Given the description of an element on the screen output the (x, y) to click on. 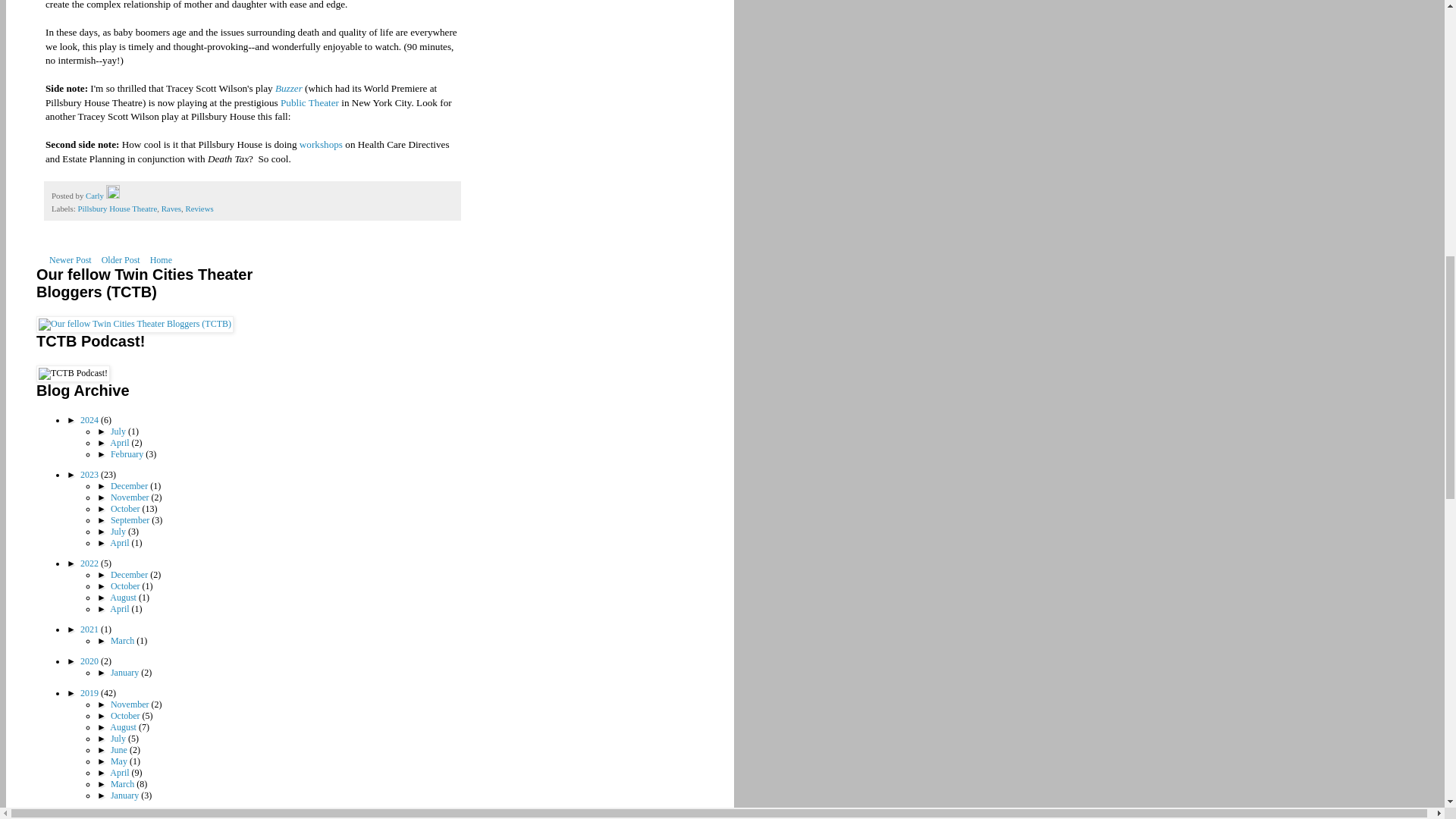
2024 (90, 419)
Pillsbury House Theatre (117, 207)
Edit Post (112, 194)
Carly (95, 194)
February (127, 453)
2023 (90, 474)
Public Theater (310, 102)
Reviews (198, 207)
November (130, 497)
workshops (320, 143)
December (129, 485)
Newer Post (70, 259)
author profile (95, 194)
Older Post (120, 259)
Buzzer (288, 88)
